Given the description of an element on the screen output the (x, y) to click on. 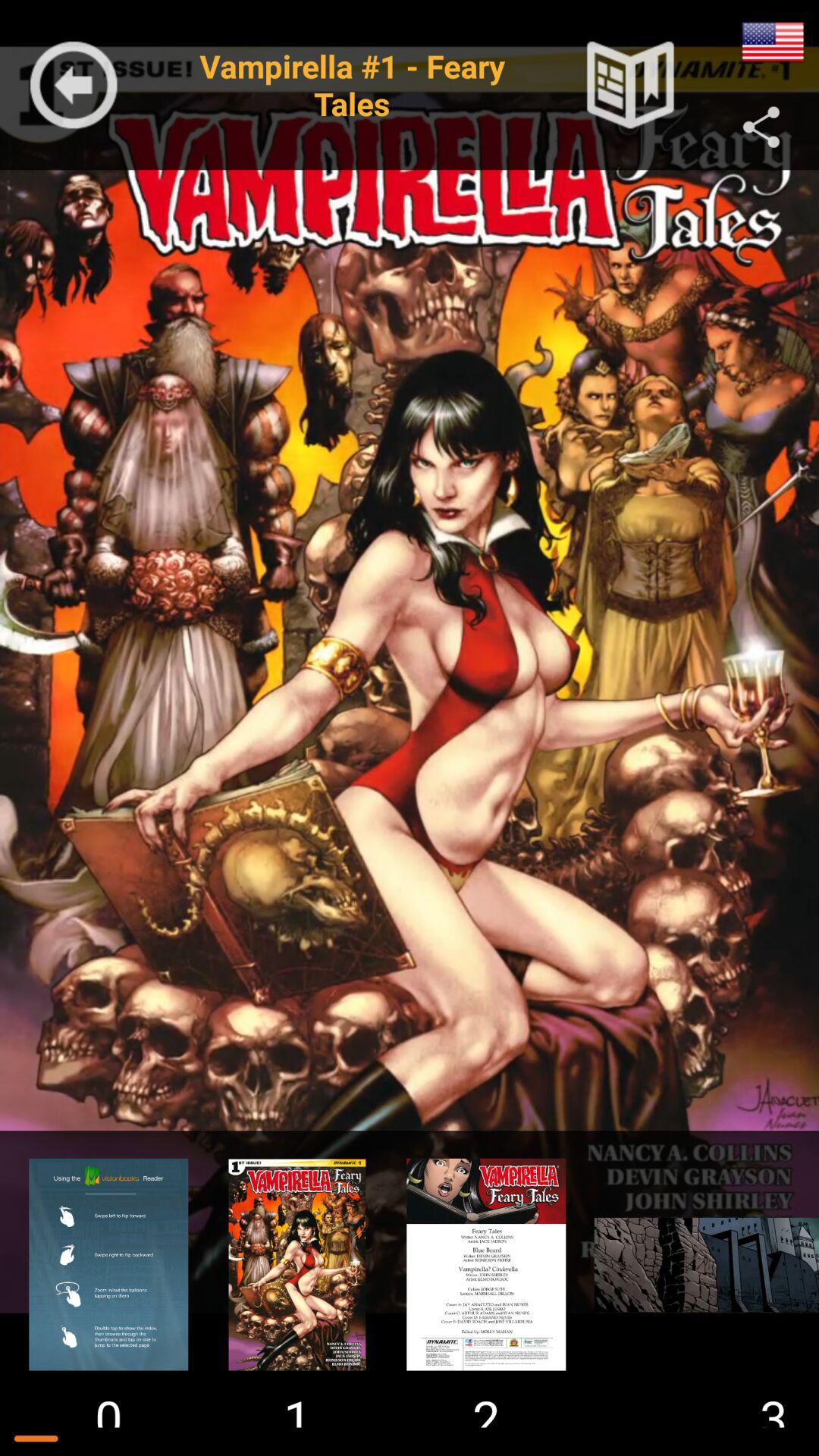
click to watch (296, 1264)
